Given the description of an element on the screen output the (x, y) to click on. 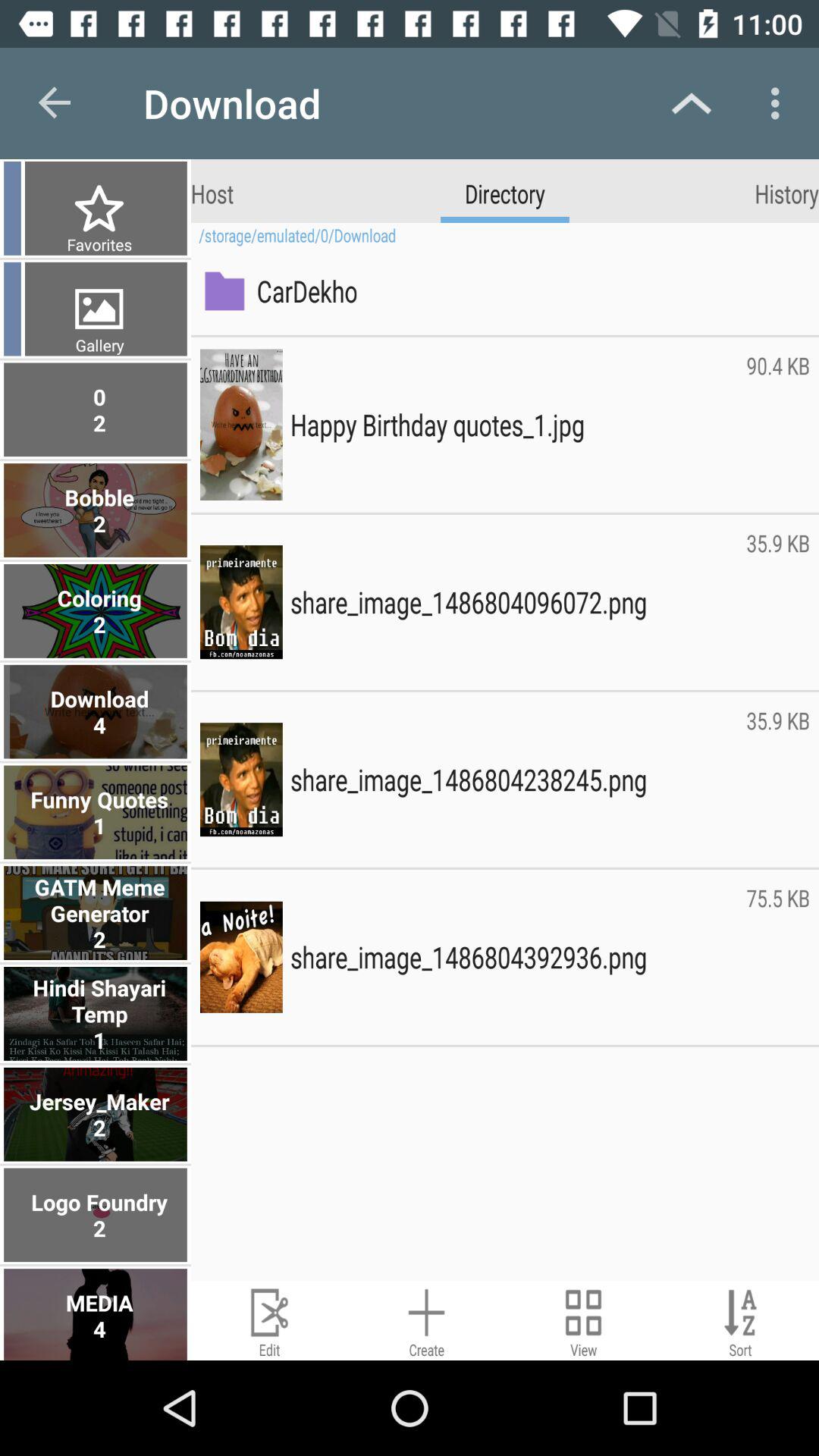
select media
4 (97, 1314)
